Given the description of an element on the screen output the (x, y) to click on. 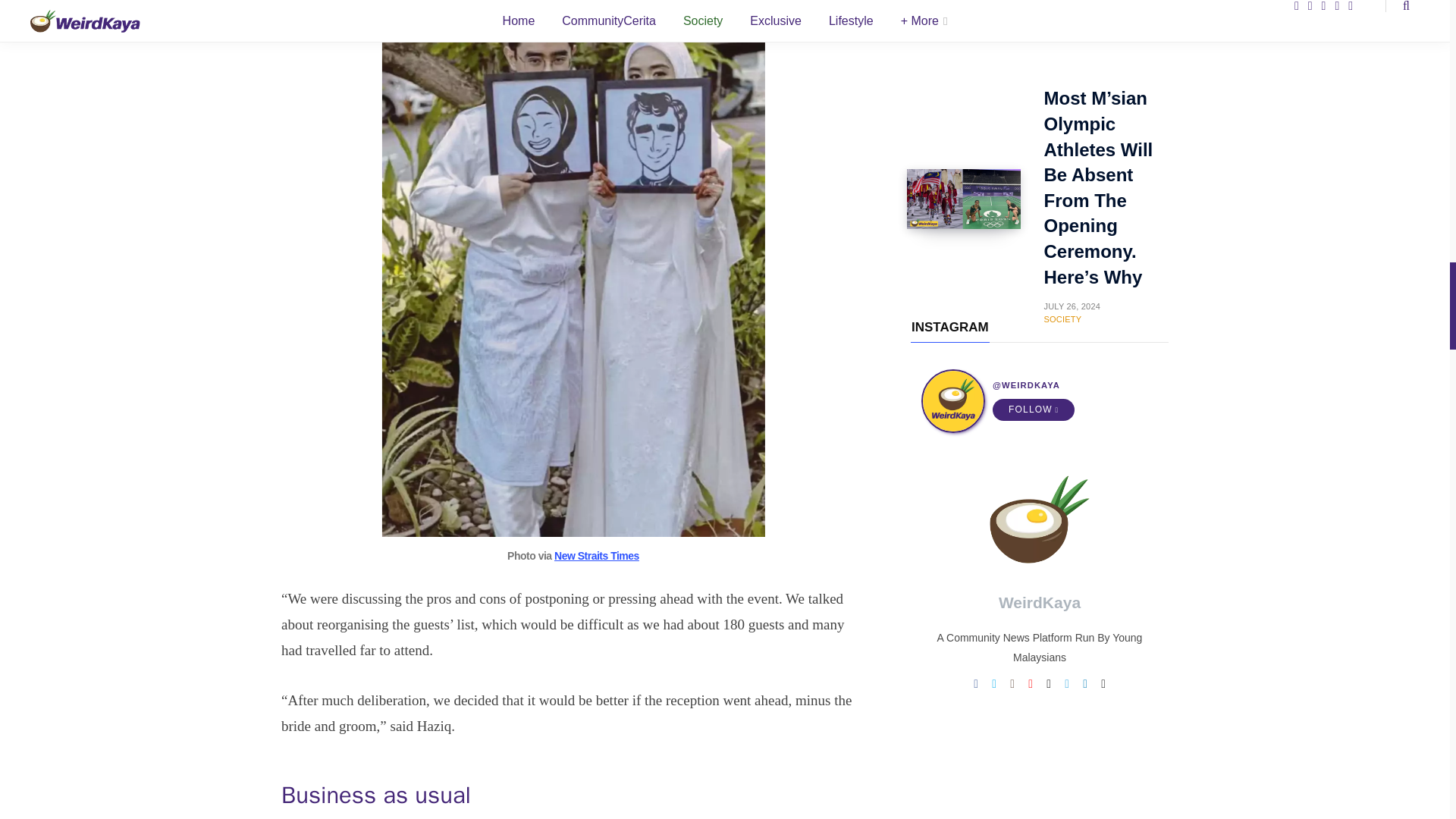
New Straits Times (596, 555)
